Given the description of an element on the screen output the (x, y) to click on. 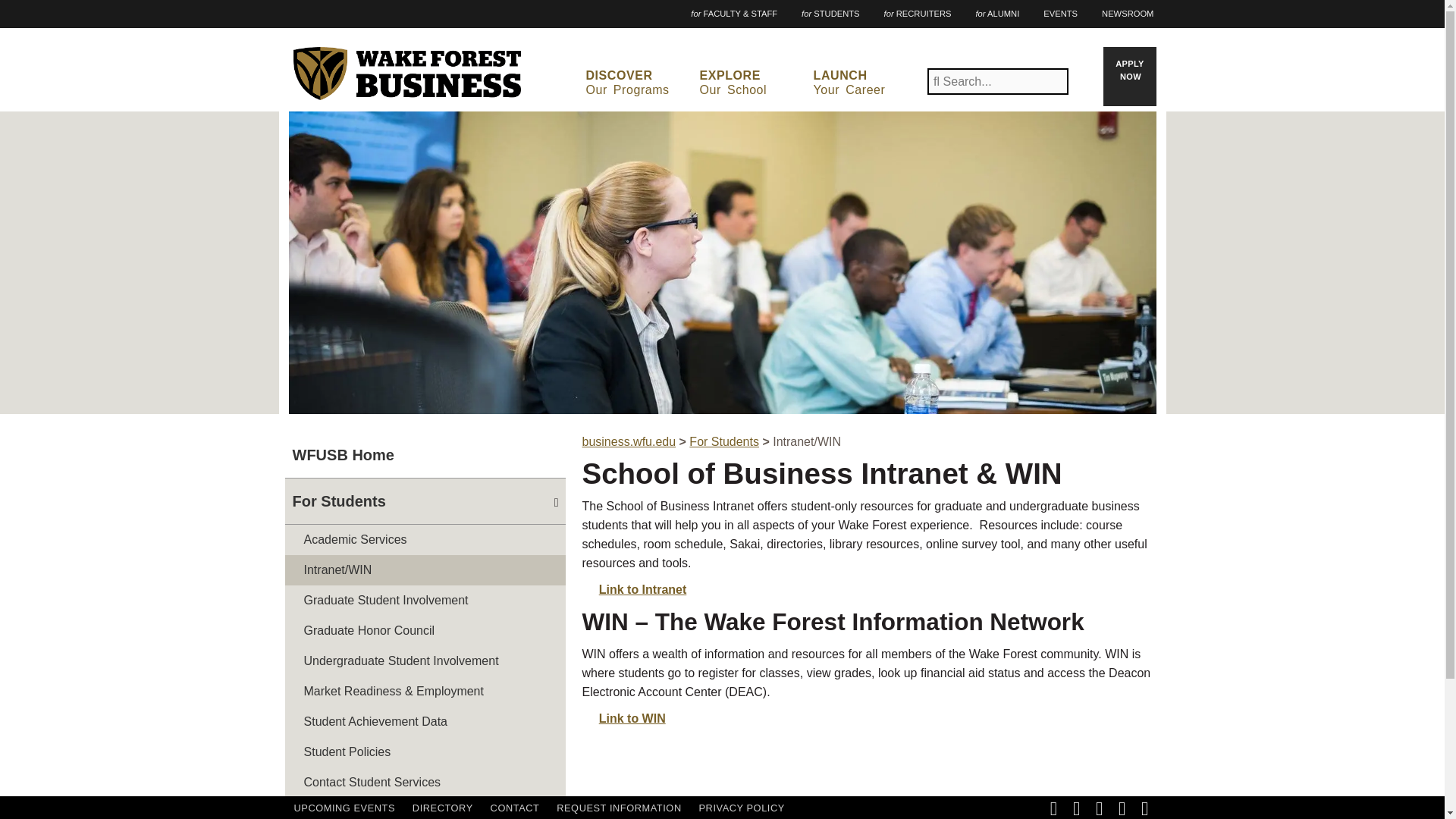
Discover Our Programs (638, 83)
Explore Our School (753, 83)
Launch Your Career (866, 83)
NEWSROOM (753, 83)
Wake Forest University School of Business (1127, 13)
for RECRUITERS (866, 83)
EVENTS (638, 83)
